Given the description of an element on the screen output the (x, y) to click on. 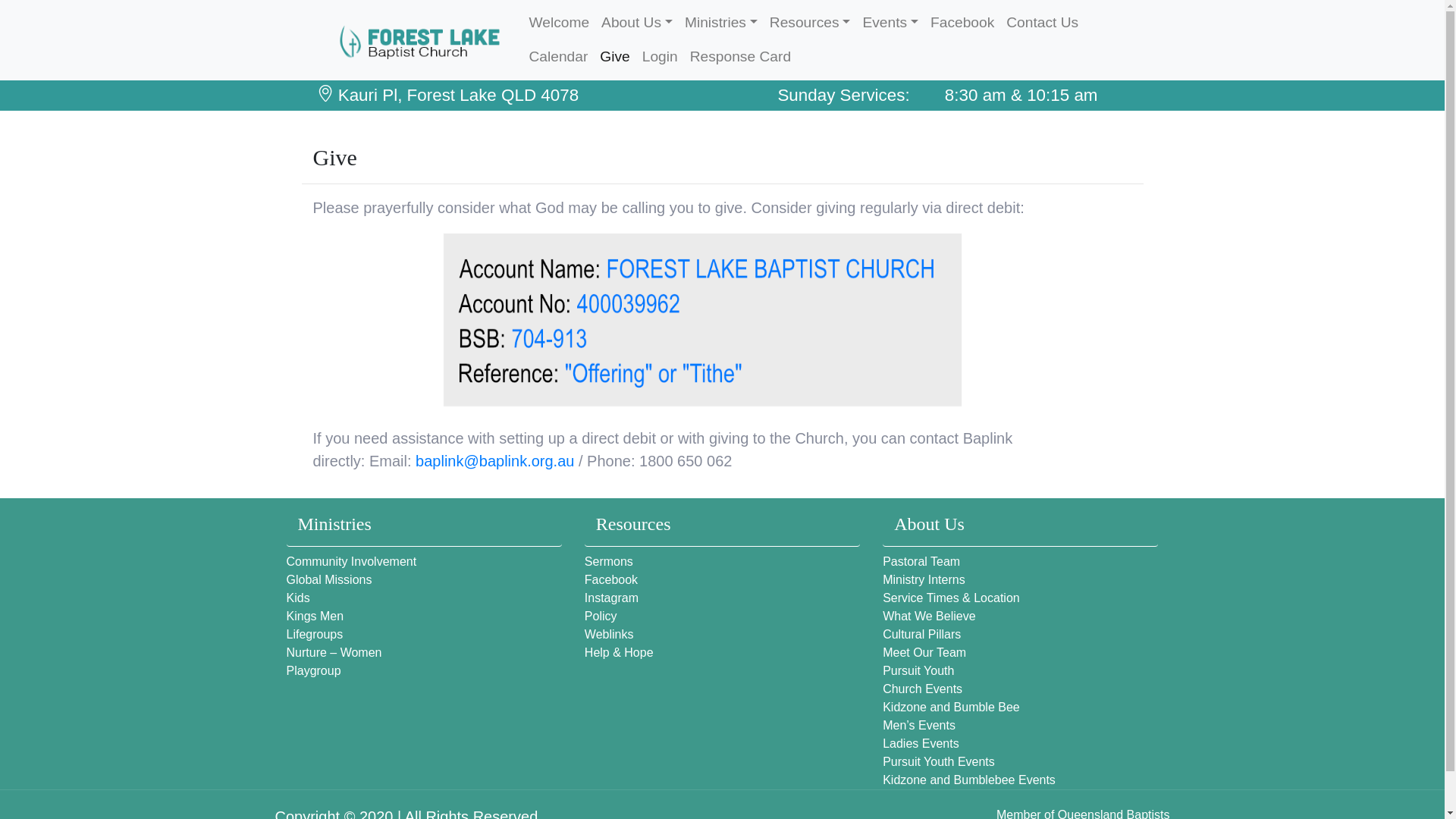
Sermons Element type: text (608, 561)
Resources Element type: text (809, 23)
Kings Men Element type: text (315, 615)
Facebook Element type: text (610, 579)
Community Involvement Element type: text (351, 561)
Weblinks Element type: text (608, 633)
Global Missions Element type: text (329, 579)
Help & Hope Element type: text (618, 652)
Login Element type: text (660, 57)
Ministries Element type: text (720, 23)
Calendar Element type: text (557, 57)
Lifegroups Element type: text (314, 633)
Contact Us Element type: text (1042, 23)
Response Card Element type: text (740, 57)
        Element type: text (406, 39)
What We Believe Element type: text (928, 615)
Give Element type: text (614, 57)
About Us Element type: text (636, 23)
Welcome Element type: text (558, 23)
Pursuit Youth Element type: text (917, 670)
Playgroup Element type: text (313, 670)
Events Element type: text (890, 23)
Kidzone and Bumble Bee Element type: text (950, 706)
Kids Element type: text (298, 597)
Cultural Pillars Element type: text (921, 633)
Service Times & Location Element type: text (950, 597)
Facebook Element type: text (962, 23)
Ladies Events Element type: text (920, 743)
Pastoral Team Element type: text (921, 561)
Meet Our Team Element type: text (924, 652)
Instagram Element type: text (611, 597)
baplink@baplink.org.au Element type: text (494, 460)
Church Events Element type: text (922, 688)
Pursuit Youth Events Element type: text (938, 761)
Policy Element type: text (600, 615)
Ministry Interns Element type: text (923, 579)
Kidzone and Bumblebee Events Element type: text (968, 779)
